Given the description of an element on the screen output the (x, y) to click on. 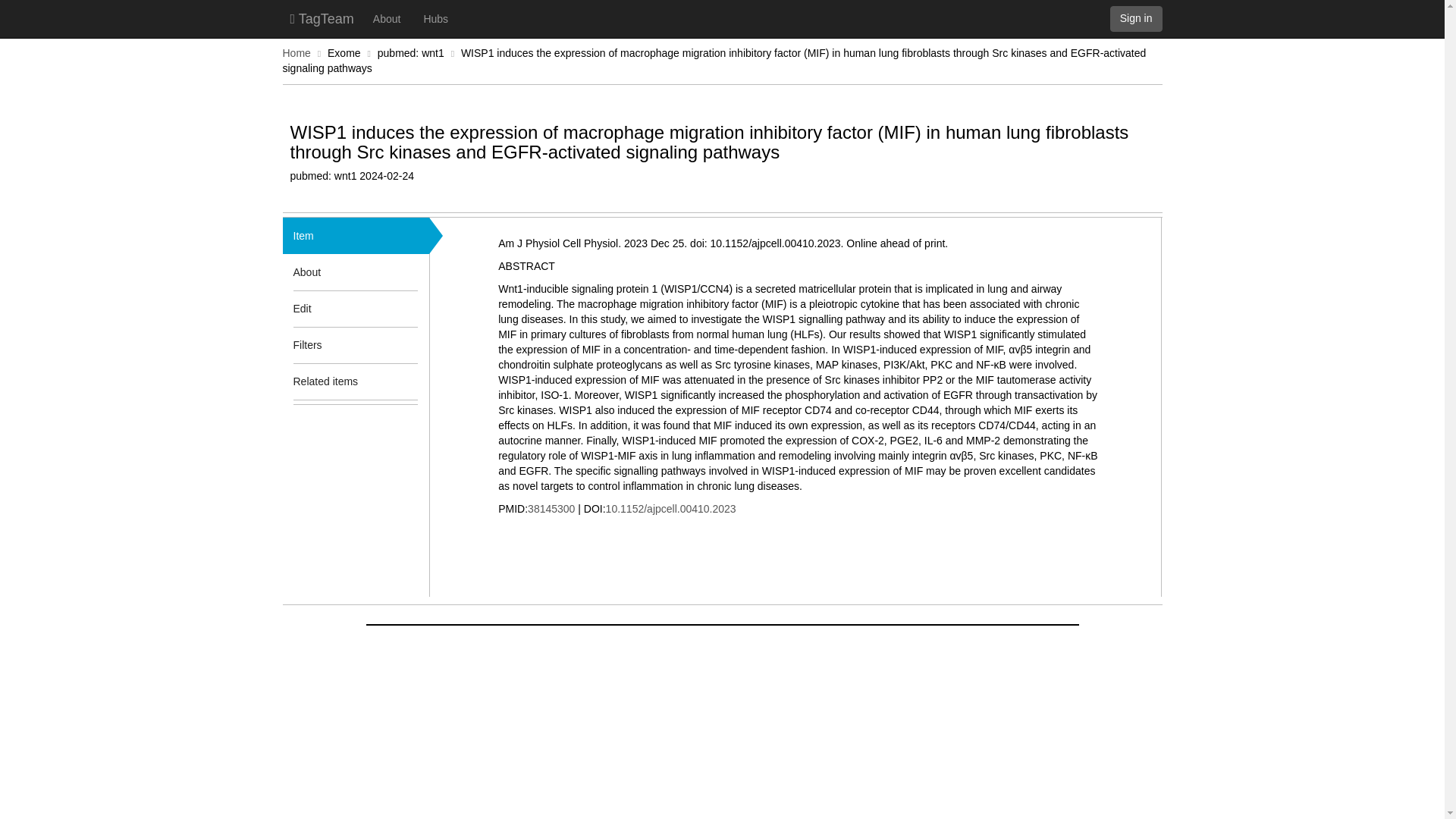
Item-level tag filters (407, 344)
About (333, 271)
Related items (333, 381)
Home (296, 52)
pubmed: wnt1 (410, 52)
About (386, 18)
Filters (333, 344)
Hubs (436, 18)
Exome (344, 52)
Edit (301, 308)
